Given the description of an element on the screen output the (x, y) to click on. 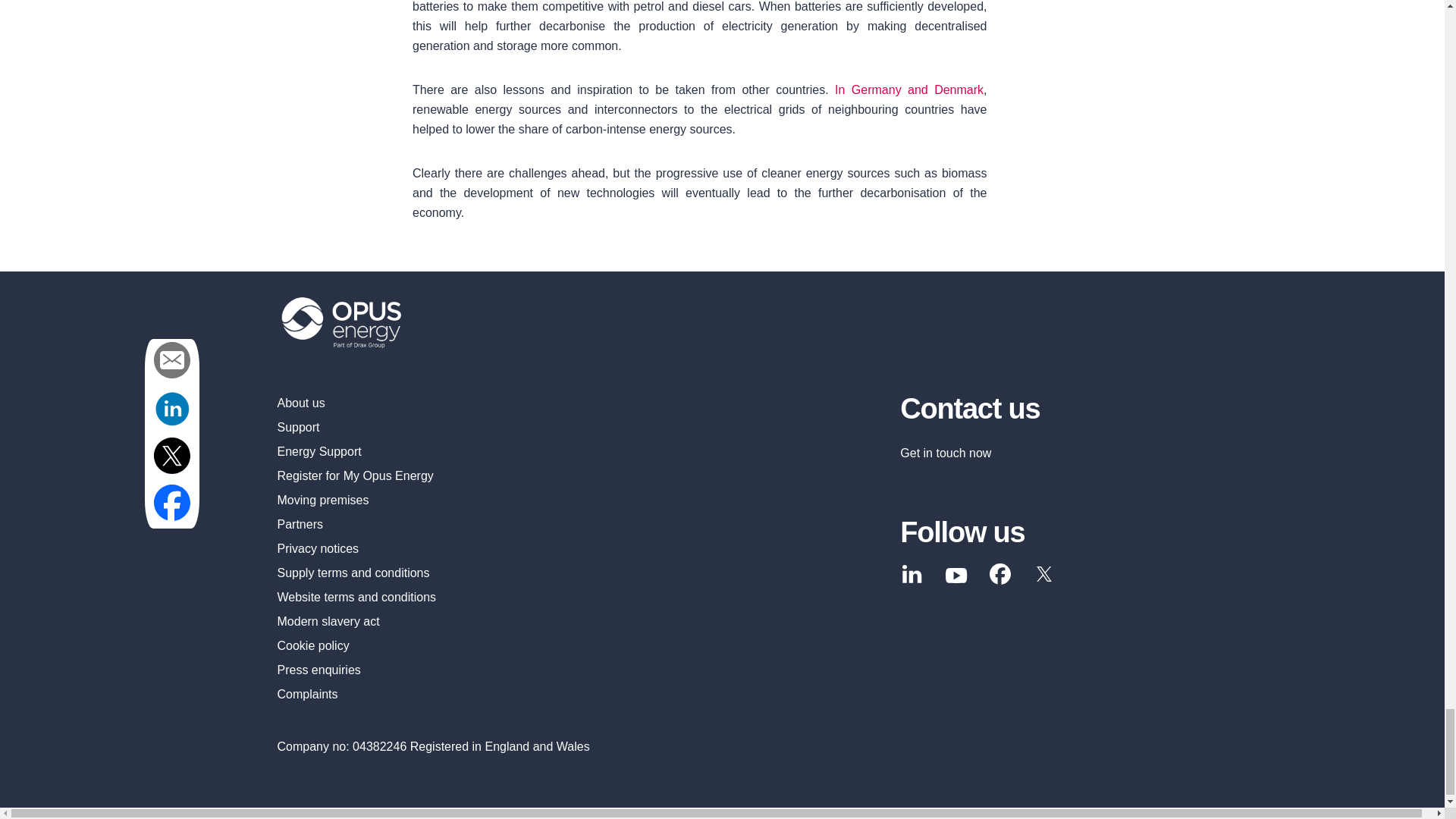
LinkedIn (911, 574)
Twitter (1044, 574)
Facebook (999, 574)
Youtube (955, 575)
